Given the description of an element on the screen output the (x, y) to click on. 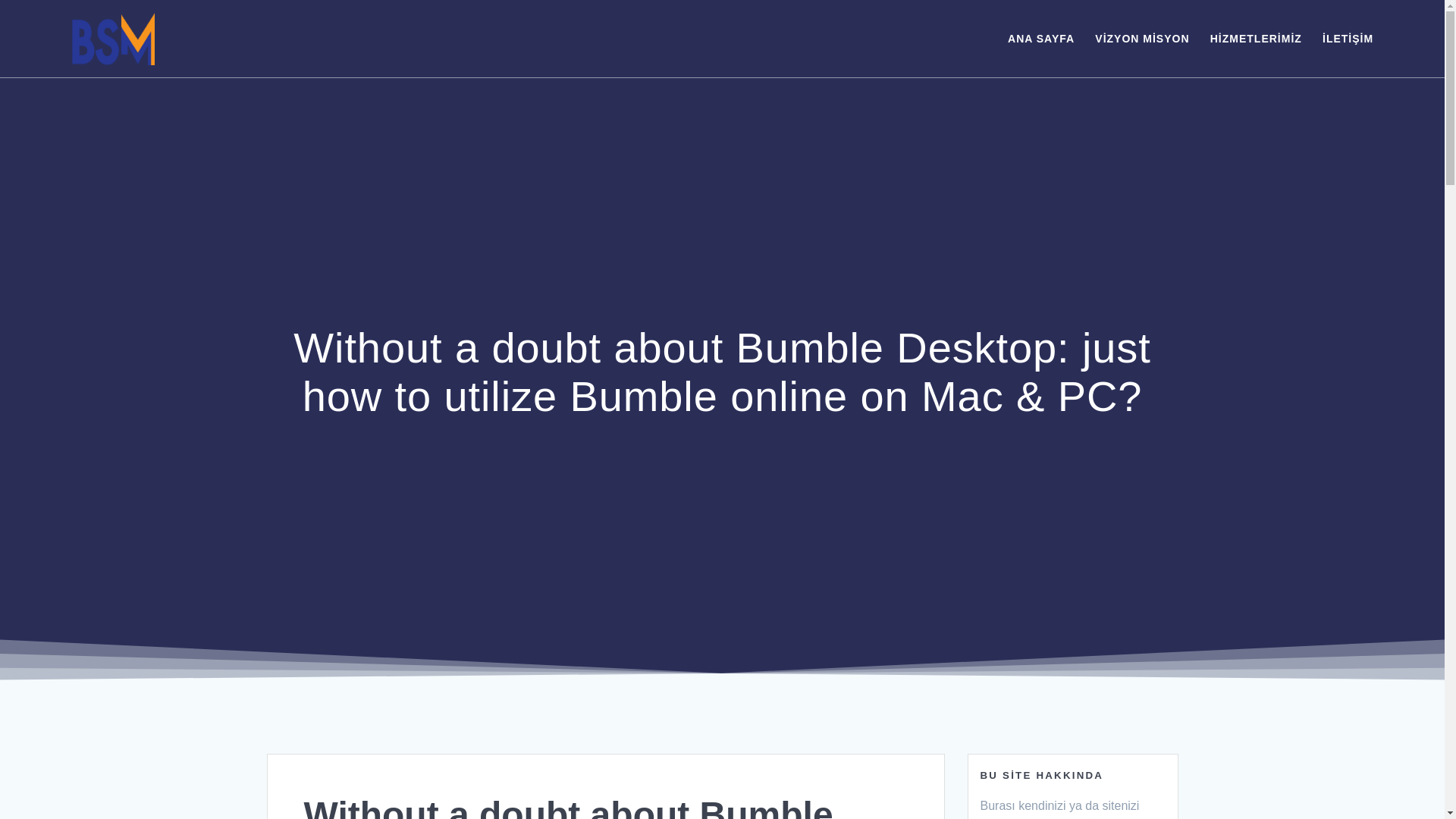
VIZYON MISYON (1141, 38)
ANA SAYFA (1040, 38)
HIZMETLERIMIZ (1255, 38)
